Given the description of an element on the screen output the (x, y) to click on. 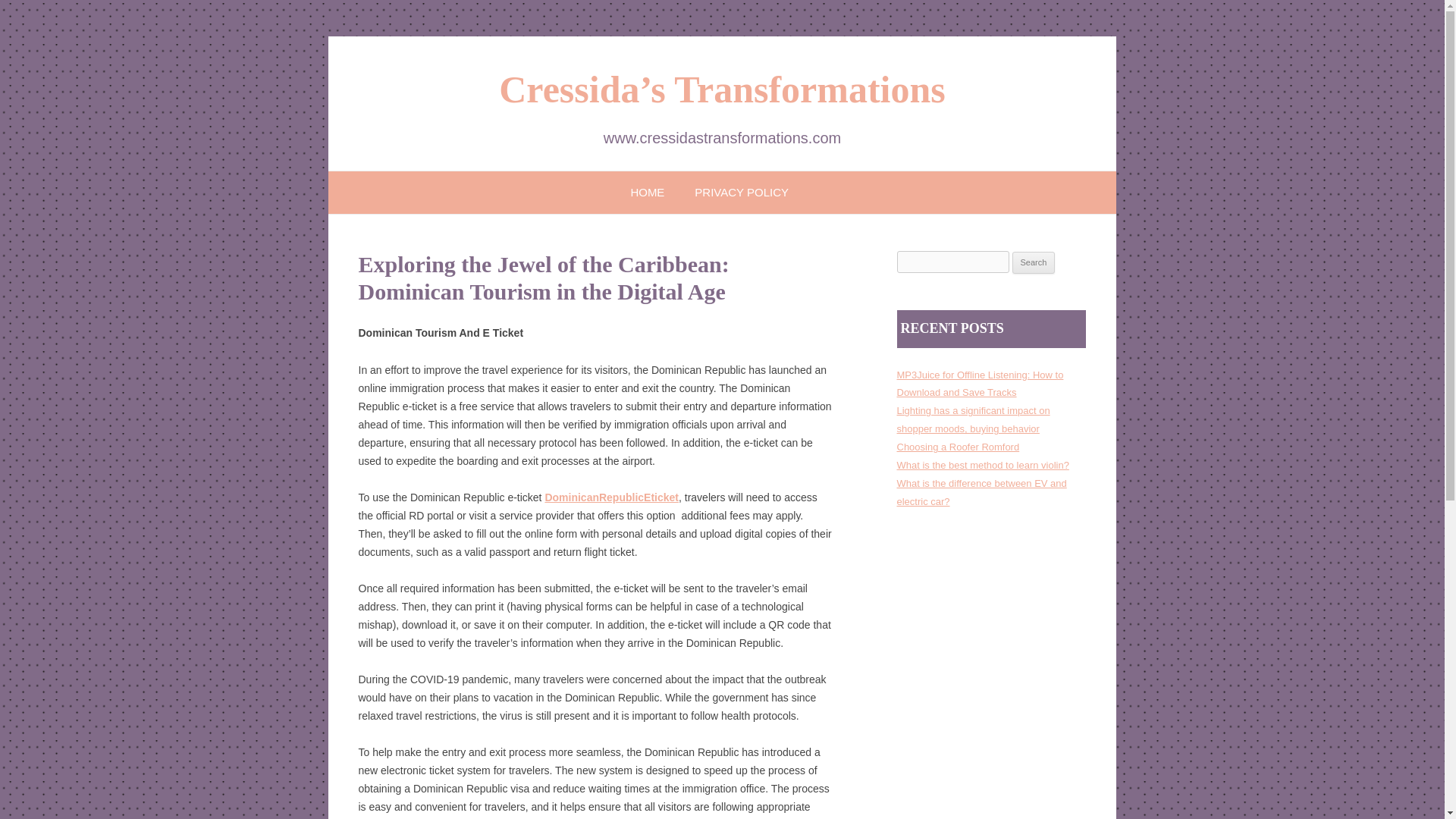
PRIVACY POLICY (741, 191)
What is the difference between EV and electric car? (980, 491)
DominicanRepublicEticket (611, 497)
What is the best method to learn violin? (982, 464)
Choosing a Roofer Romford (957, 446)
Search (1033, 262)
